Given the description of an element on the screen output the (x, y) to click on. 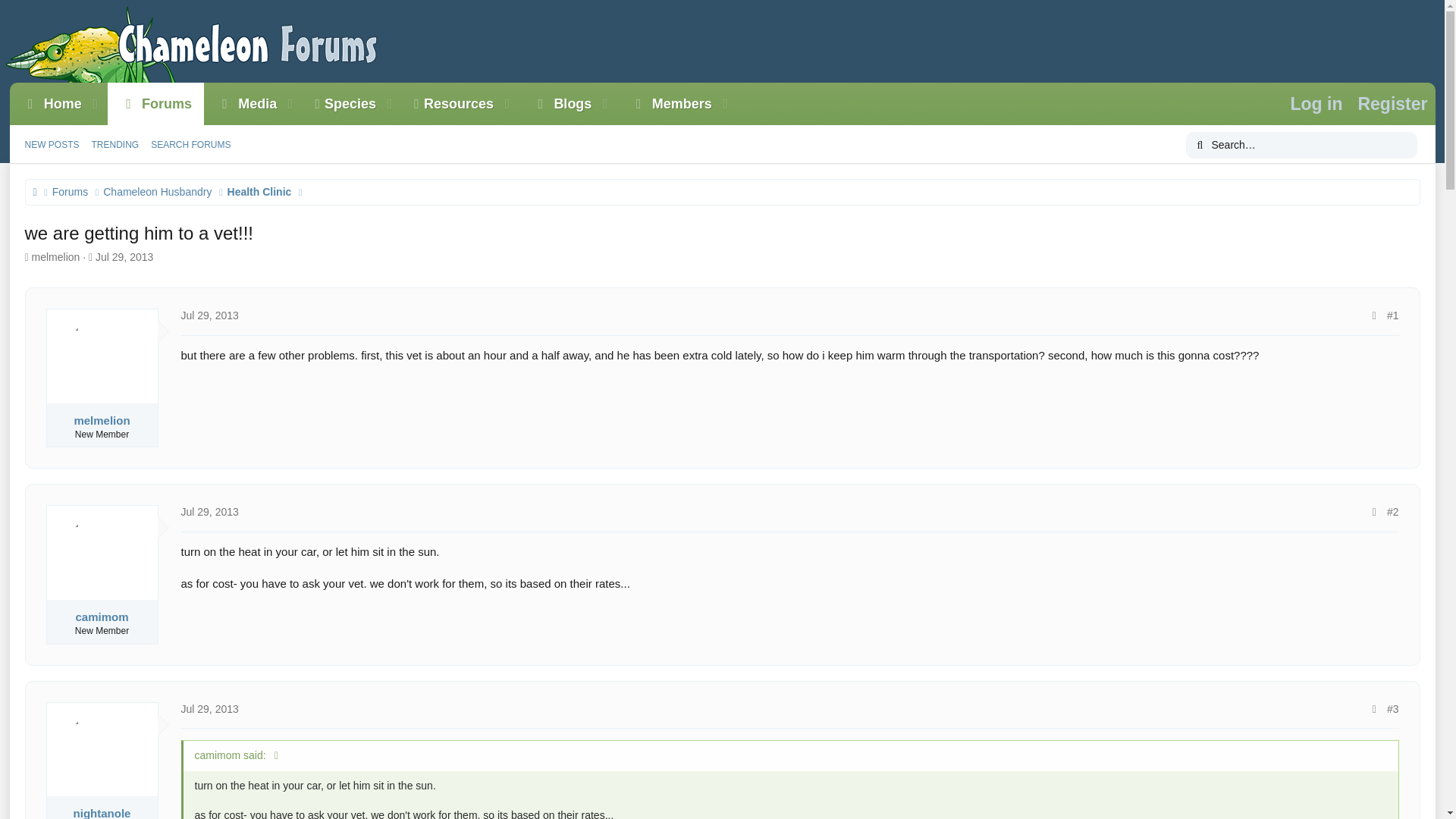
Resources (448, 103)
Media (123, 162)
Species (373, 103)
Jul 29, 2013 at 11:29 AM (373, 120)
Jul 29, 2013 at 11:32 AM (240, 103)
Forums (339, 103)
Home (209, 511)
Jul 29, 2013 at 11:28 AM (209, 708)
Jul 29, 2013 at 11:28 AM (155, 103)
